Given the description of an element on the screen output the (x, y) to click on. 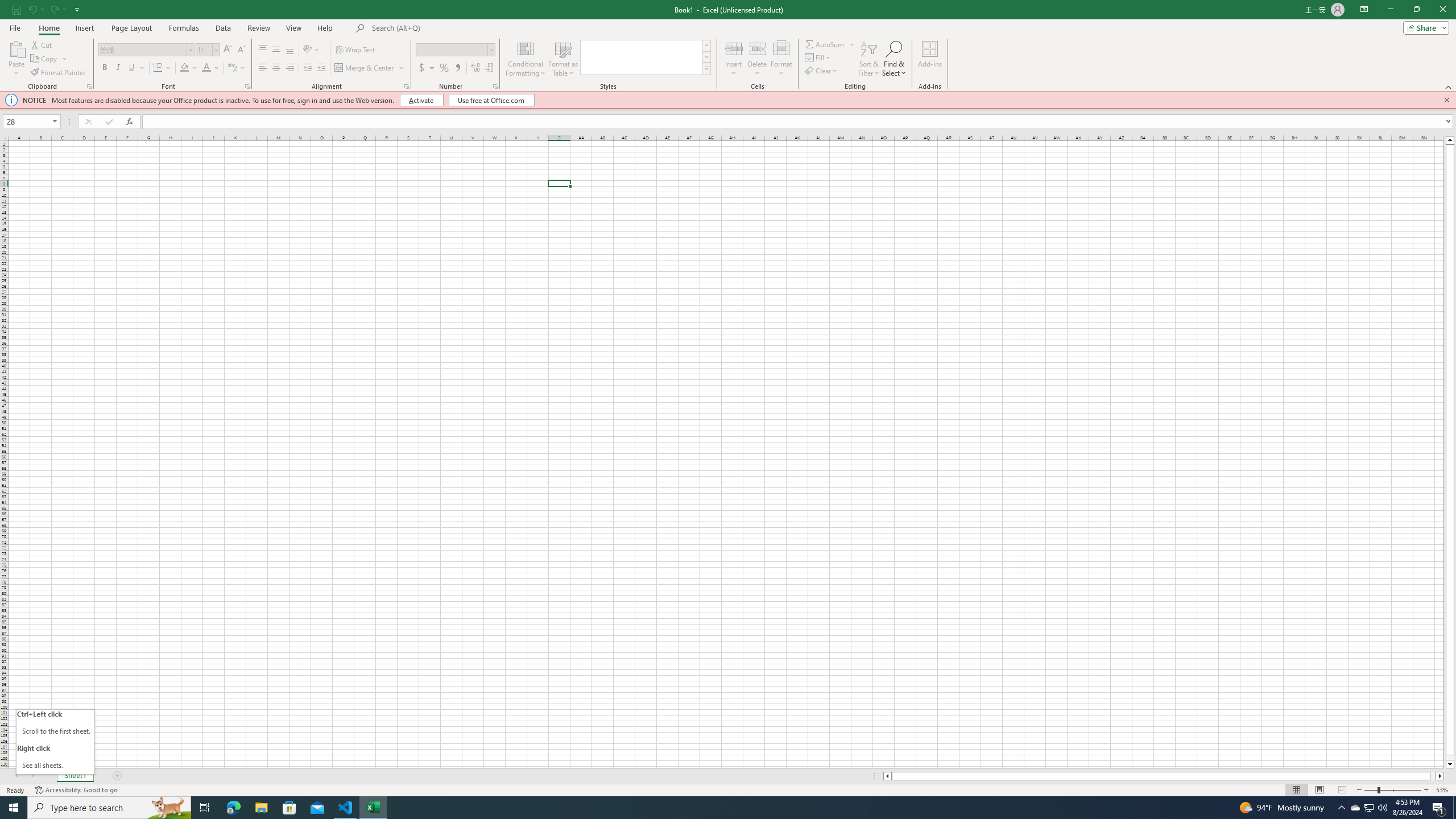
Find & Select (893, 58)
Number Format (455, 49)
Class: MsoCommandBar (728, 45)
Increase Decimal (474, 67)
Collapse the Ribbon (1448, 86)
Open (54, 121)
Page right (1432, 775)
Quick Access Toolbar (46, 9)
Insert Cells (733, 48)
Share (1423, 27)
Increase Indent (320, 67)
Office Clipboard... (88, 85)
Close (1442, 9)
Name Box (27, 121)
